Given the description of an element on the screen output the (x, y) to click on. 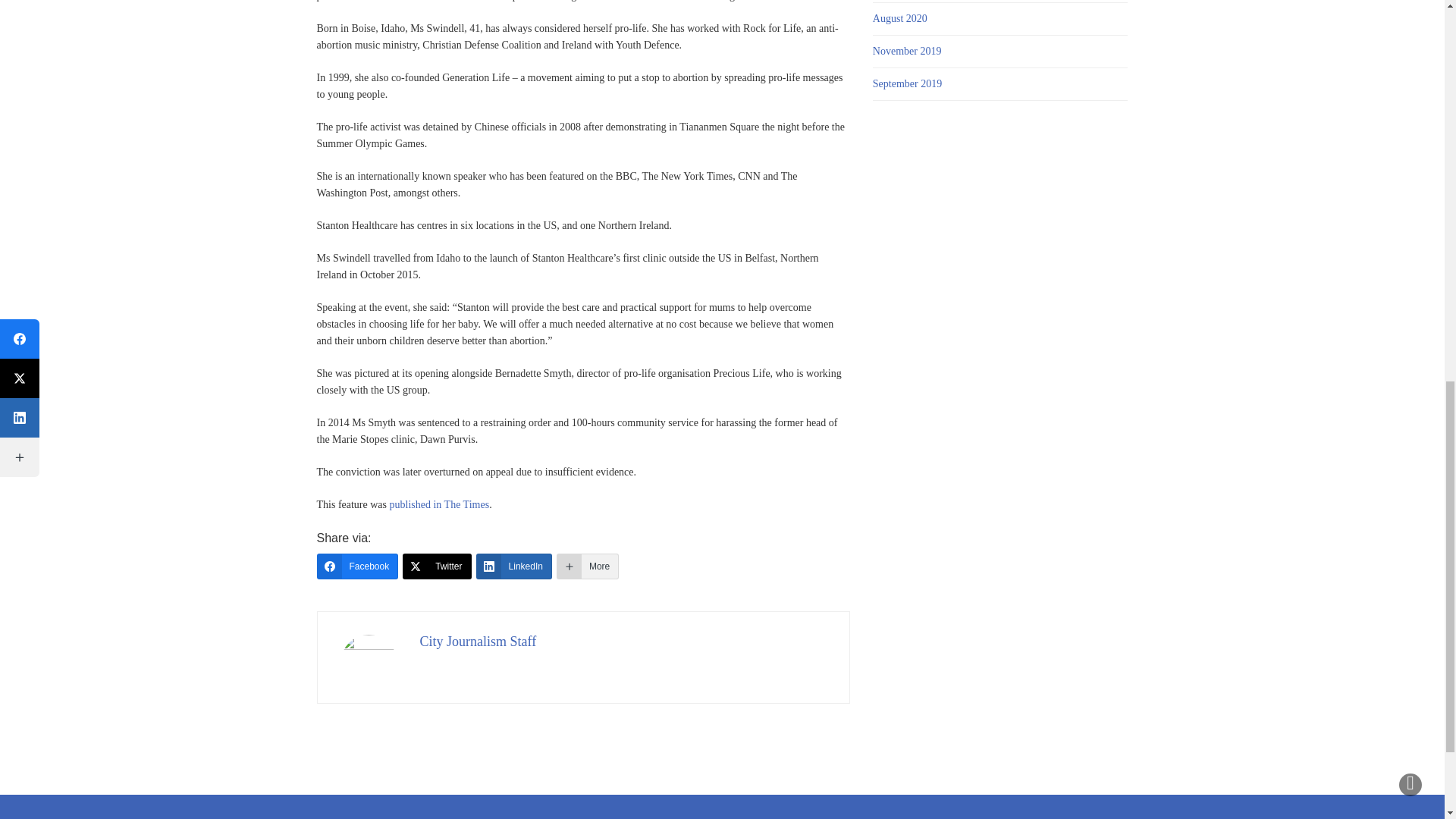
published in The Times (439, 504)
Facebook (357, 566)
Twitter (436, 566)
More (587, 566)
City Journalism Staff (478, 641)
LinkedIn (513, 566)
